Given the description of an element on the screen output the (x, y) to click on. 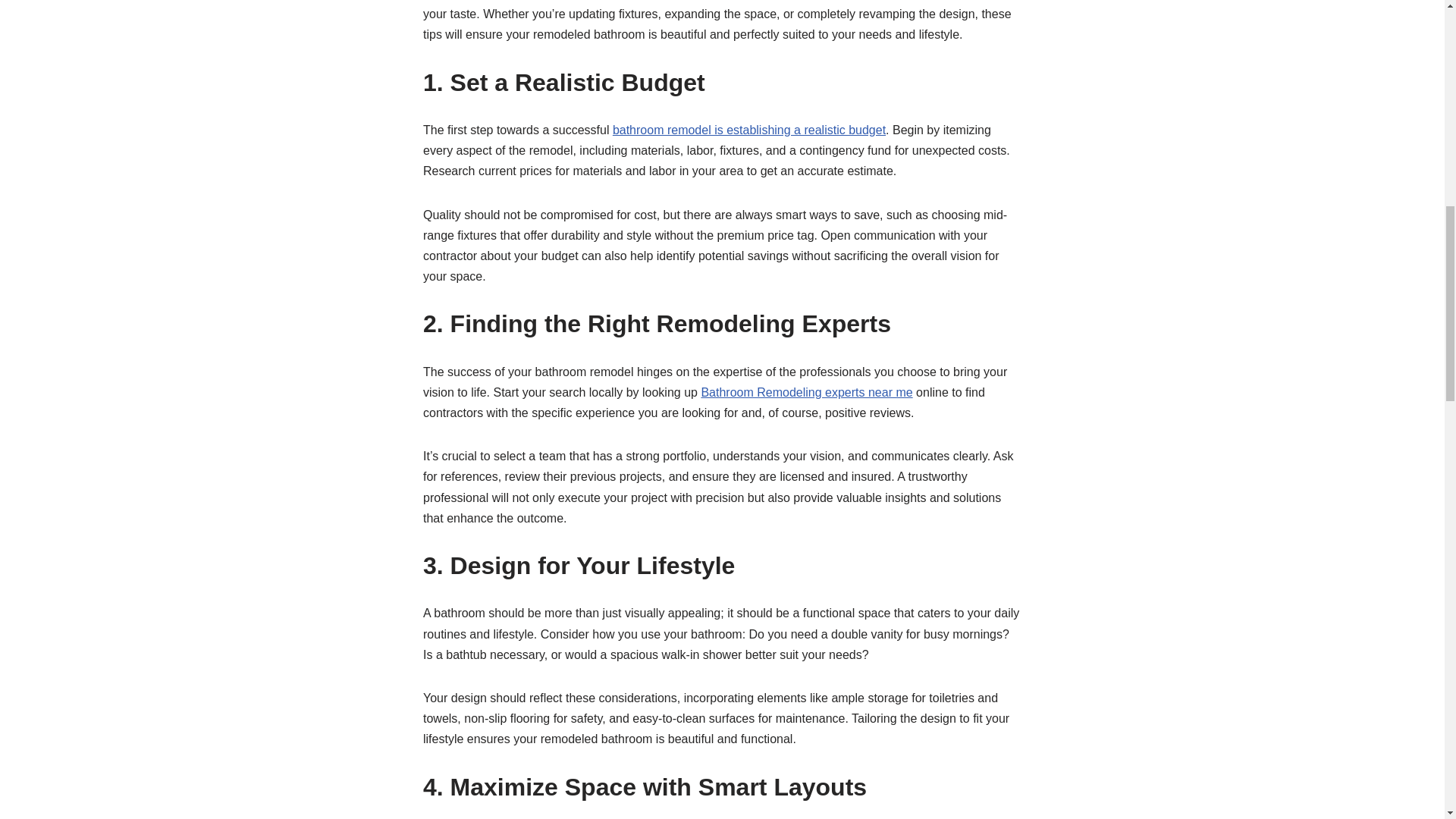
bathroom remodel is establishing a realistic budget (748, 129)
Bathroom Remodeling experts near me (806, 391)
